Given the description of an element on the screen output the (x, y) to click on. 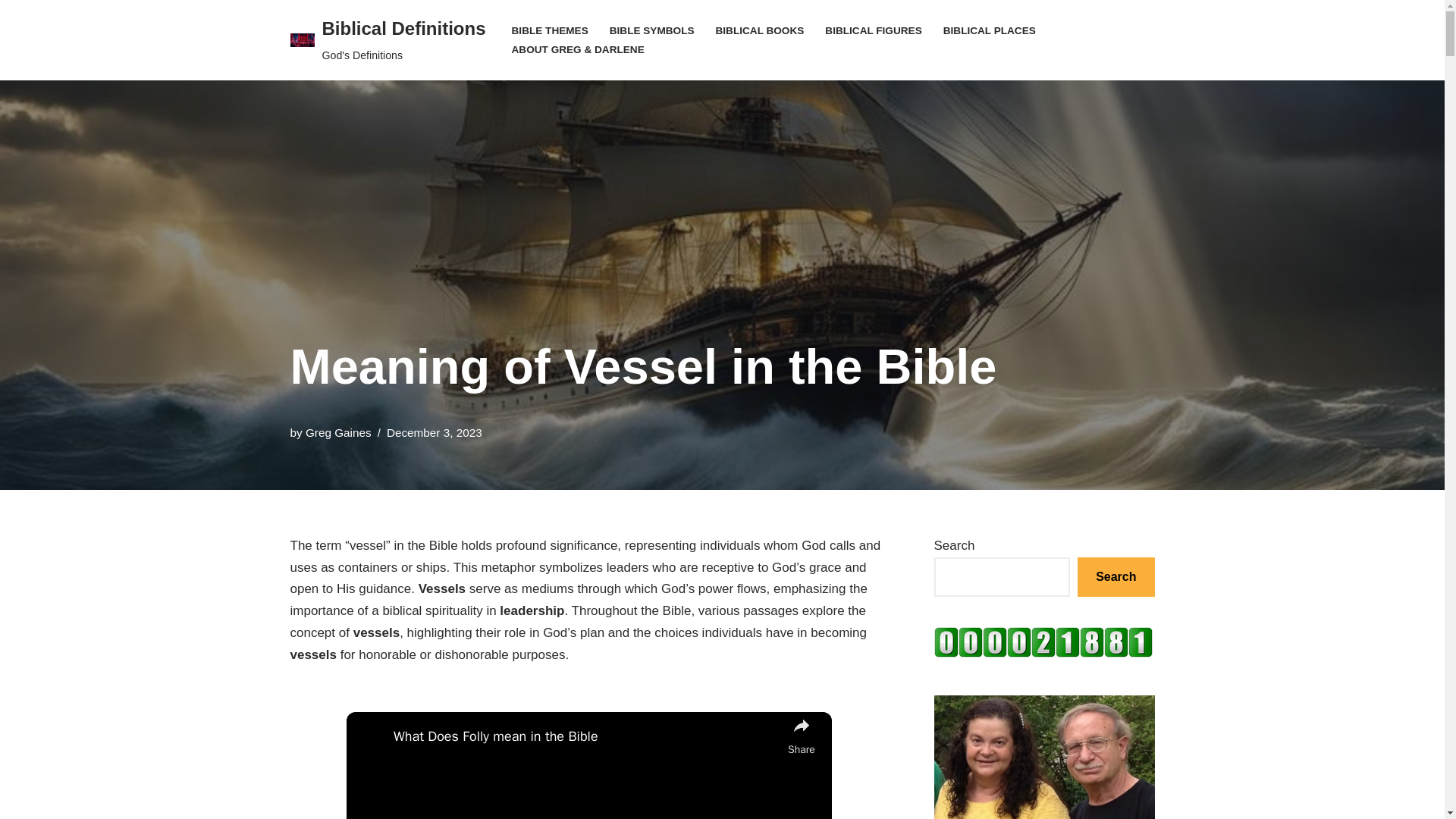
What Does Folly mean in the Bible (586, 736)
Posts by Greg Gaines (338, 431)
BIBLE THEMES (550, 30)
Search (1115, 577)
Greg Gaines (386, 39)
free web counter (338, 431)
Skip to content (1043, 653)
BIBLICAL PLACES (11, 31)
BIBLE SYMBOLS (989, 30)
